Given the description of an element on the screen output the (x, y) to click on. 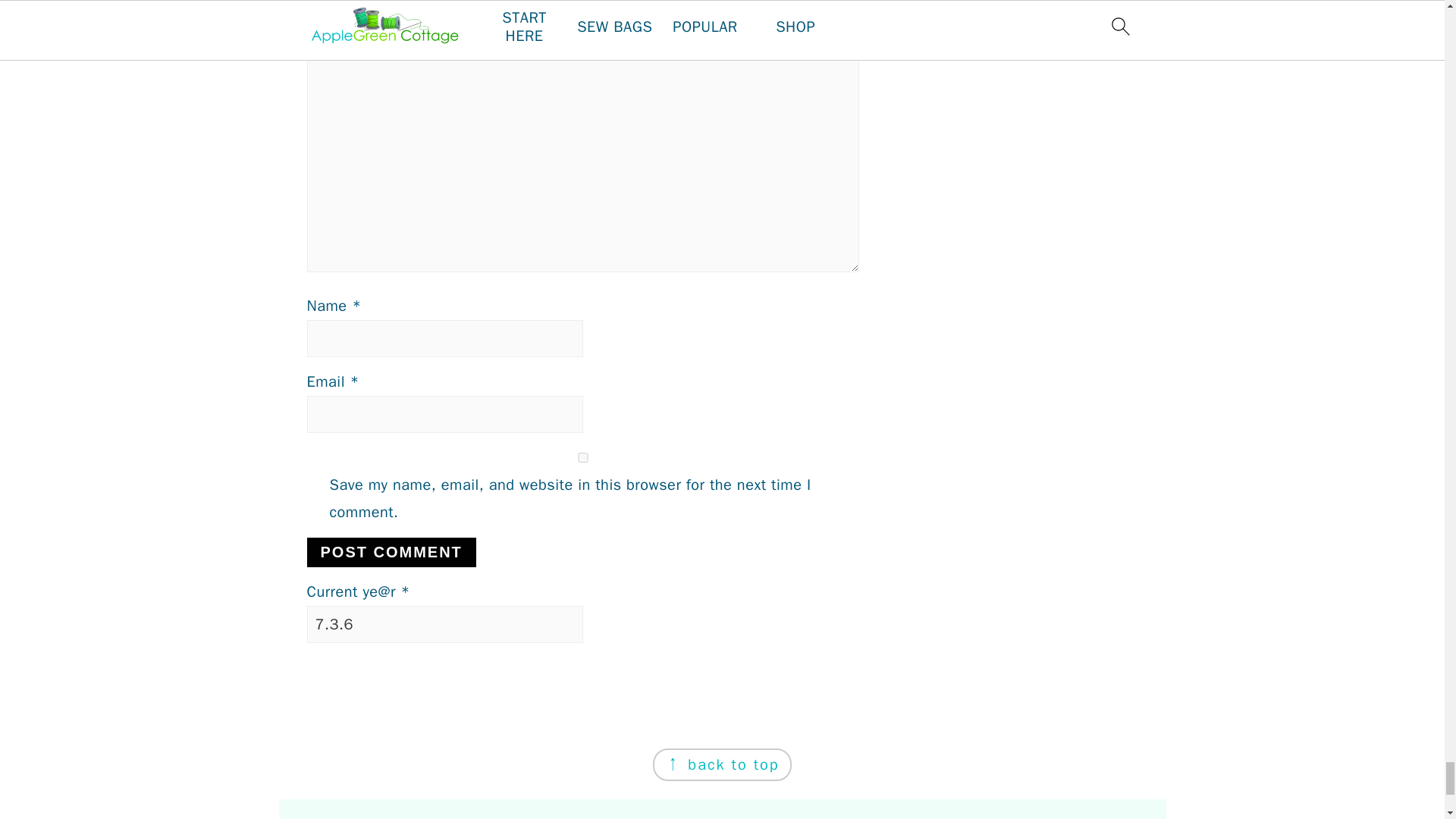
Post Comment (390, 552)
yes (582, 457)
7.3.6 (443, 624)
